Given the description of an element on the screen output the (x, y) to click on. 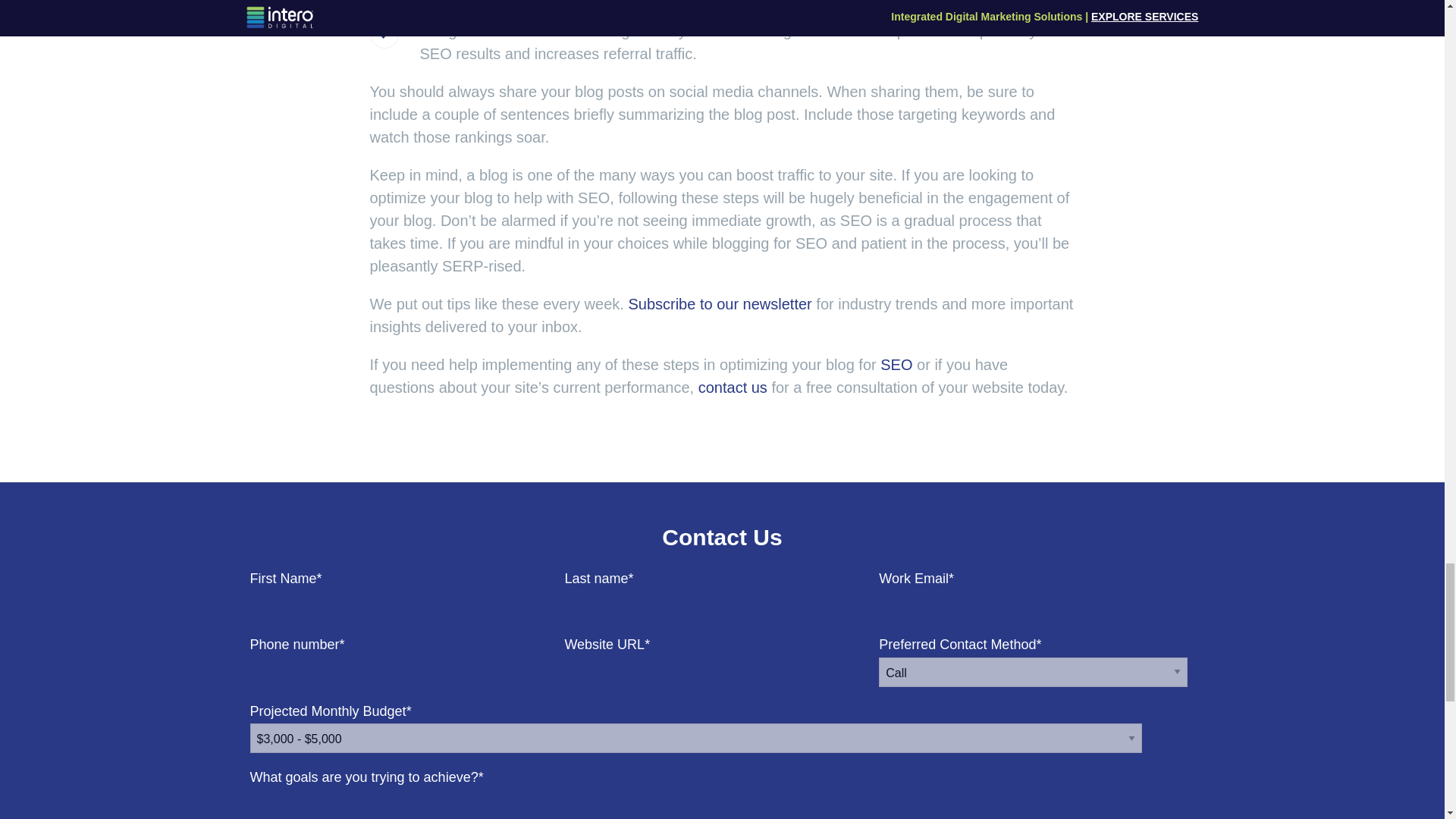
Subscribe to our newsletter (718, 303)
contact us (732, 387)
SEO (896, 364)
